Given the description of an element on the screen output the (x, y) to click on. 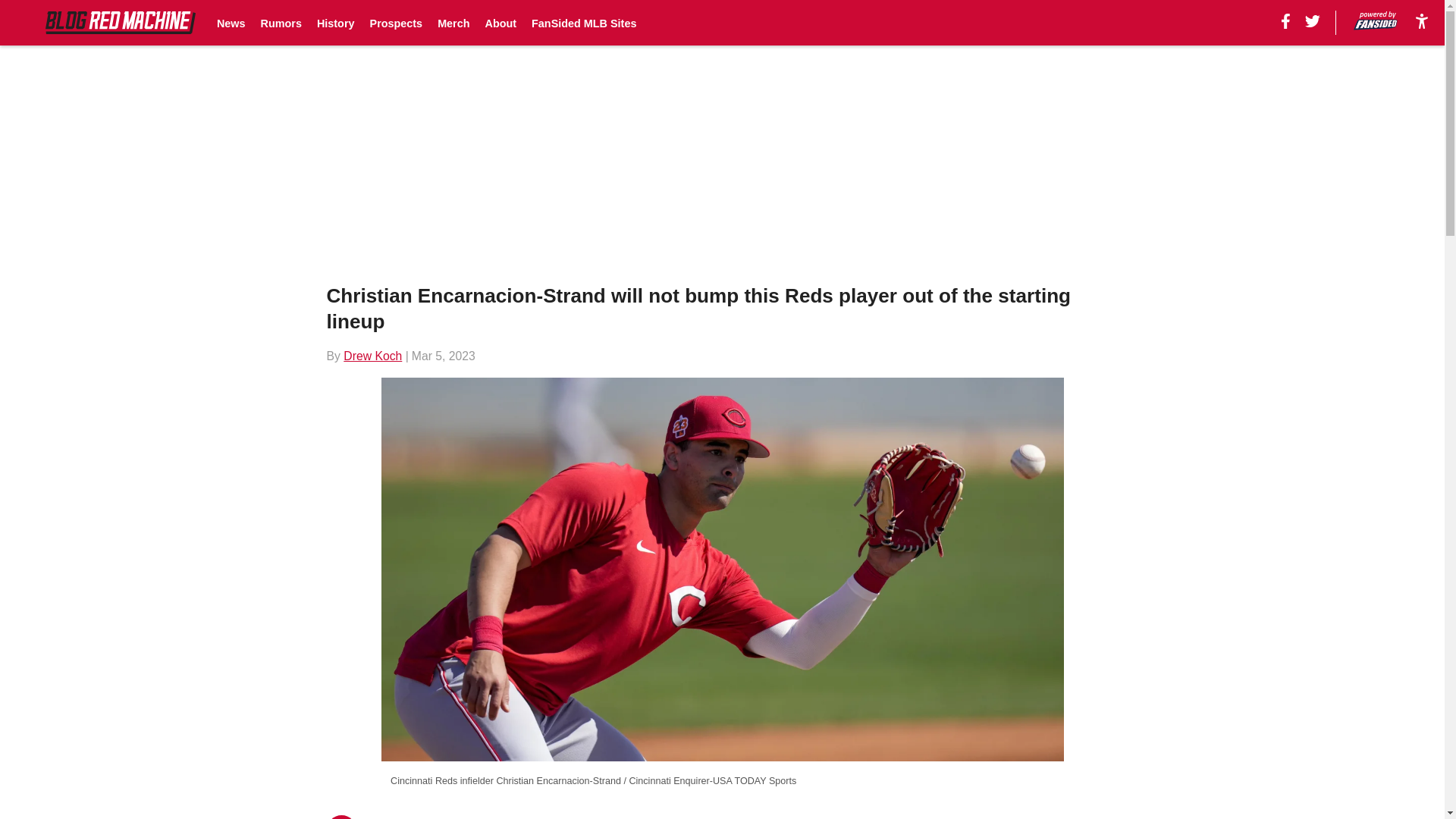
FanSided MLB Sites (583, 23)
Rumors (280, 23)
News (231, 23)
Prospects (396, 23)
Drew Koch (372, 355)
Merch (453, 23)
History (336, 23)
About (500, 23)
